Given the description of an element on the screen output the (x, y) to click on. 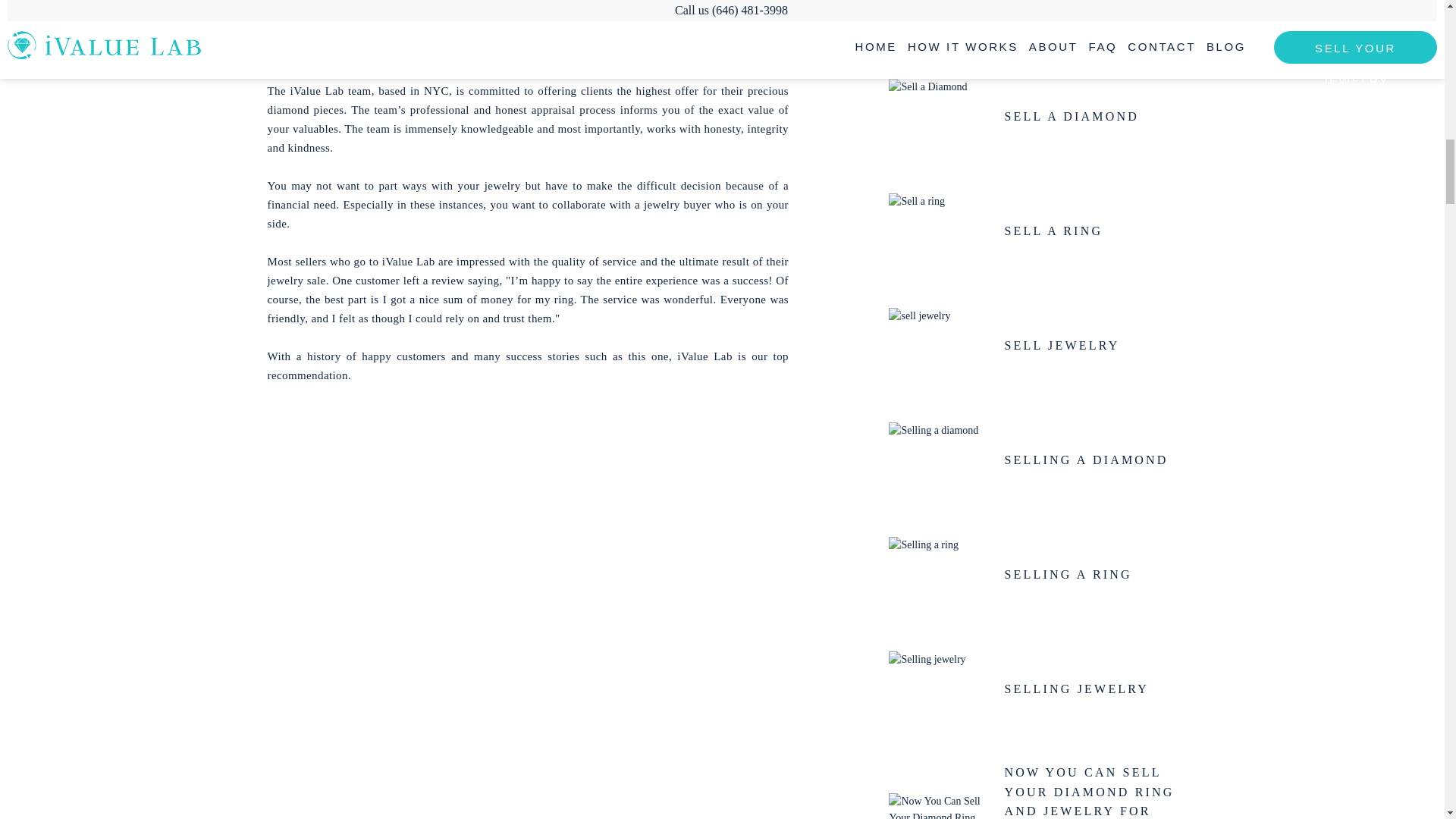
Continue reading "Selling a ring" (939, 574)
Continue reading "Selling jewelry" (939, 689)
Continue reading "sell jewelry" (939, 345)
Continue reading "Sell a ring" (939, 230)
Continue reading "Stefanie F Testimonial" (939, 21)
Continue reading "Selling a diamond" (939, 460)
online jewelry buyer (498, 29)
Continue reading "Sell a Diamond" (939, 117)
